Given the description of an element on the screen output the (x, y) to click on. 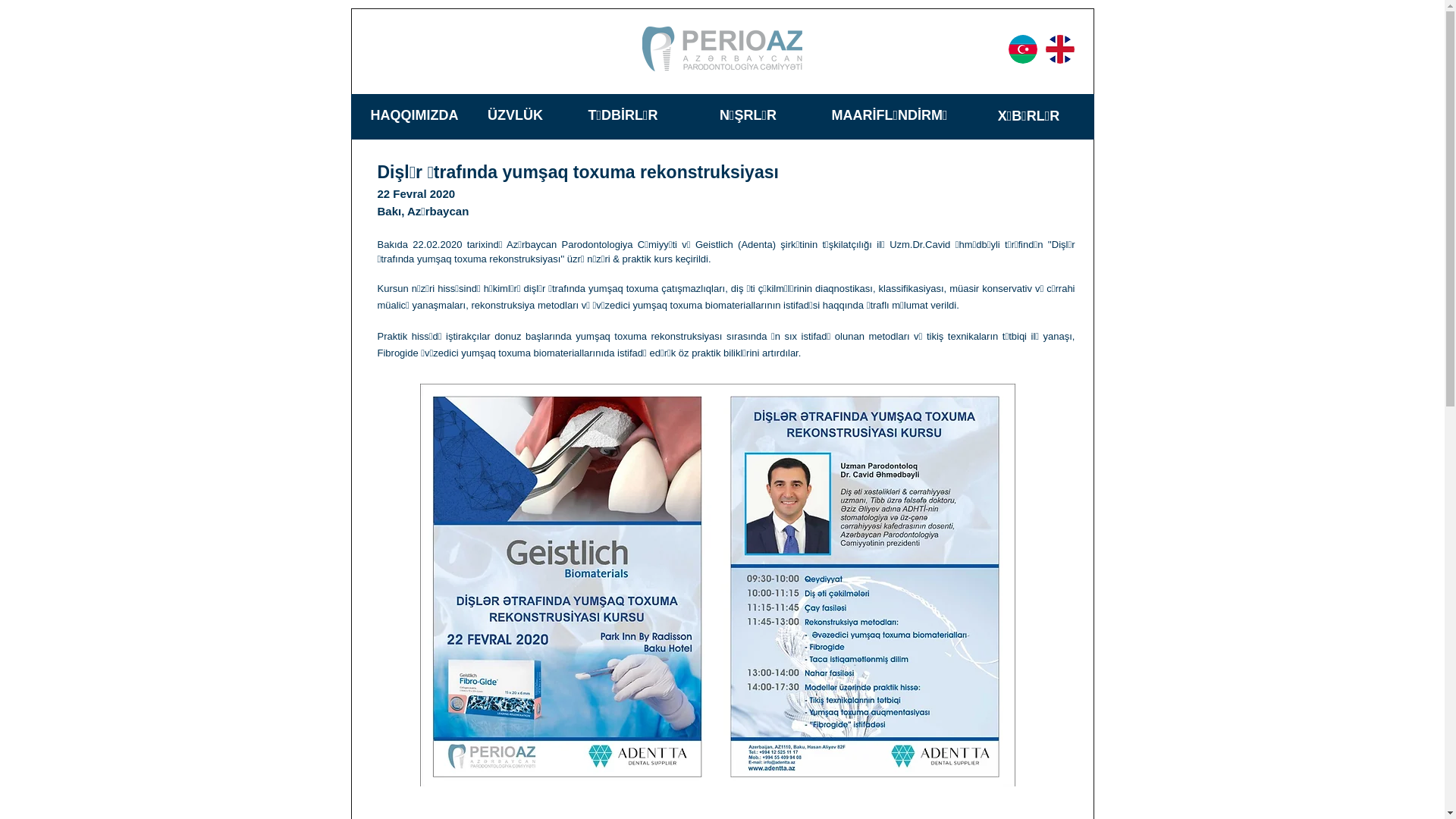
HAQQIMIZDA Element type: text (414, 114)
